Given the description of an element on the screen output the (x, y) to click on. 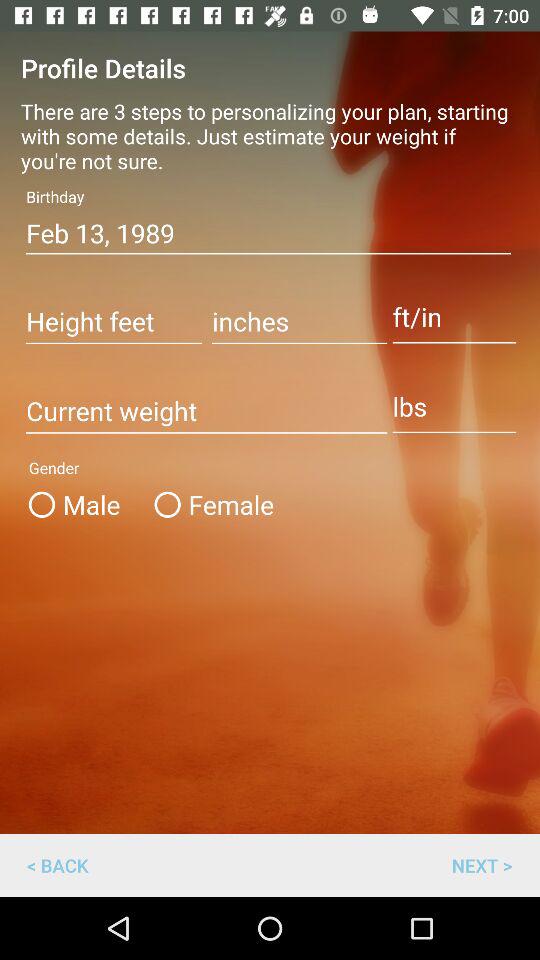
swipe until the feb 13, 1989 icon (268, 233)
